Given the description of an element on the screen output the (x, y) to click on. 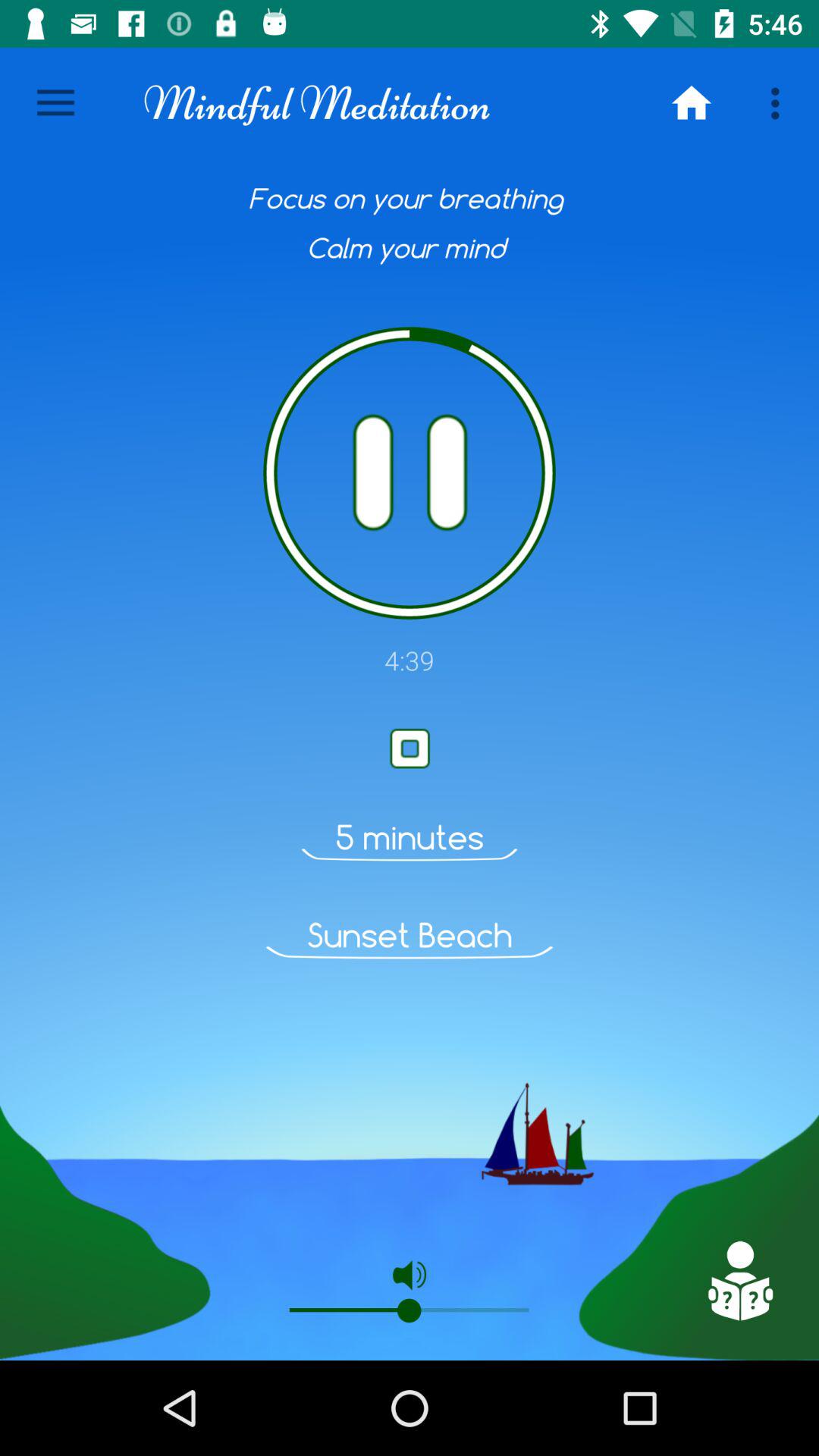
ask a question (739, 1280)
